Given the description of an element on the screen output the (x, y) to click on. 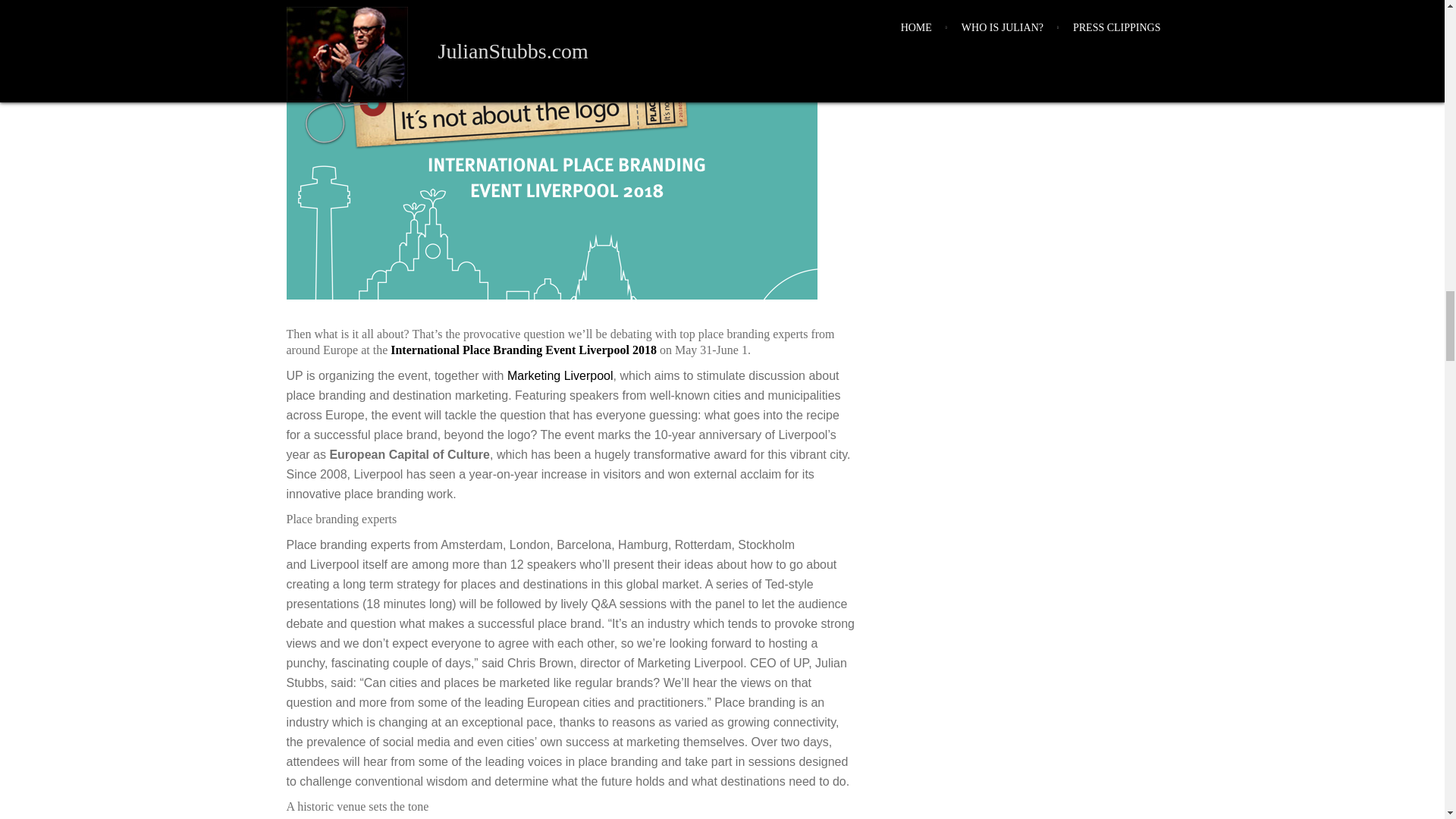
International Place Branding Event Liverpool 2018 (523, 349)
Julian Stubbs (379, 49)
Marketing Liverpool (559, 375)
Posts by Julian Stubbs (379, 49)
